Given the description of an element on the screen output the (x, y) to click on. 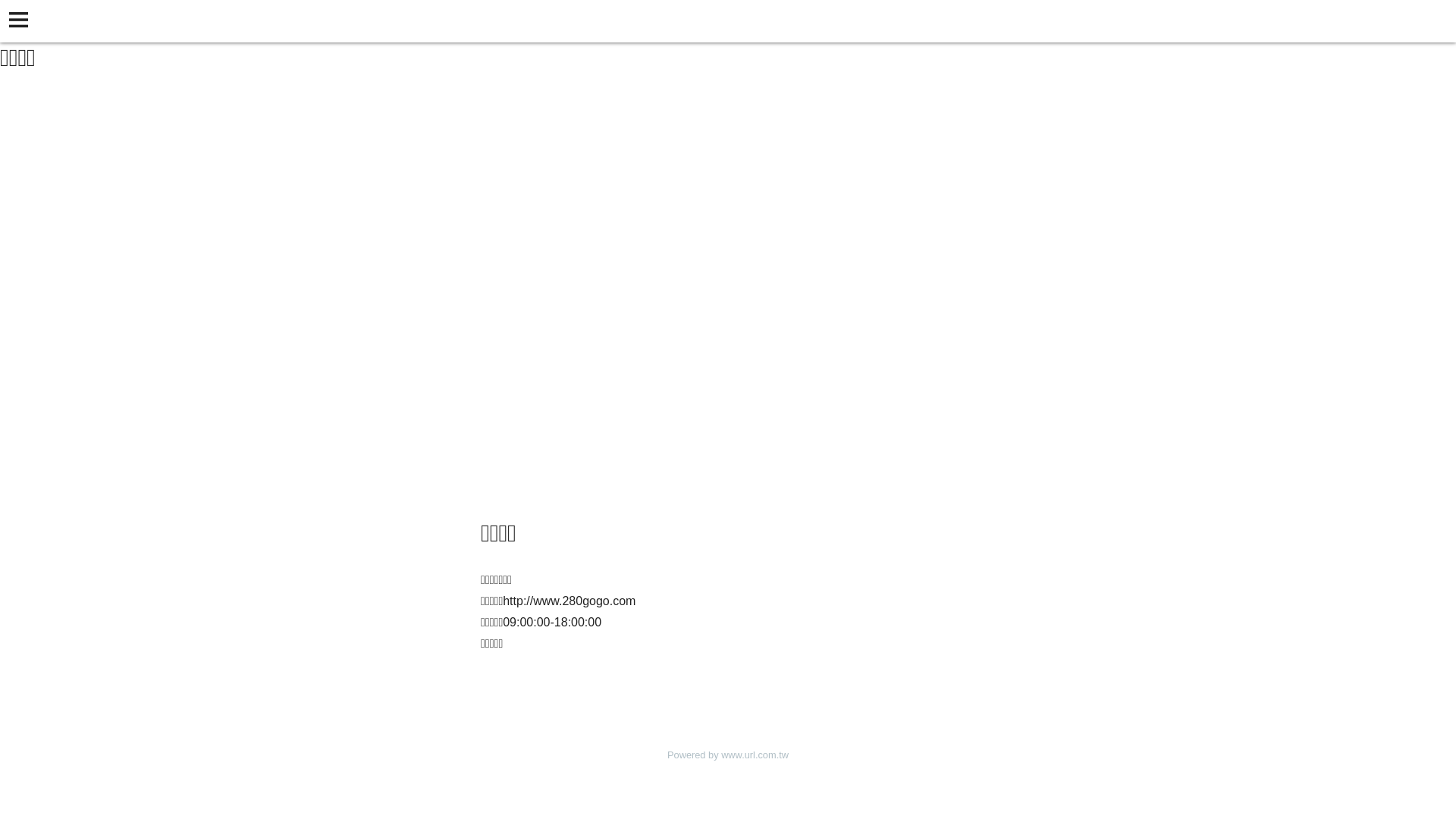
www.url.com.tw Element type: text (754, 754)
